Given the description of an element on the screen output the (x, y) to click on. 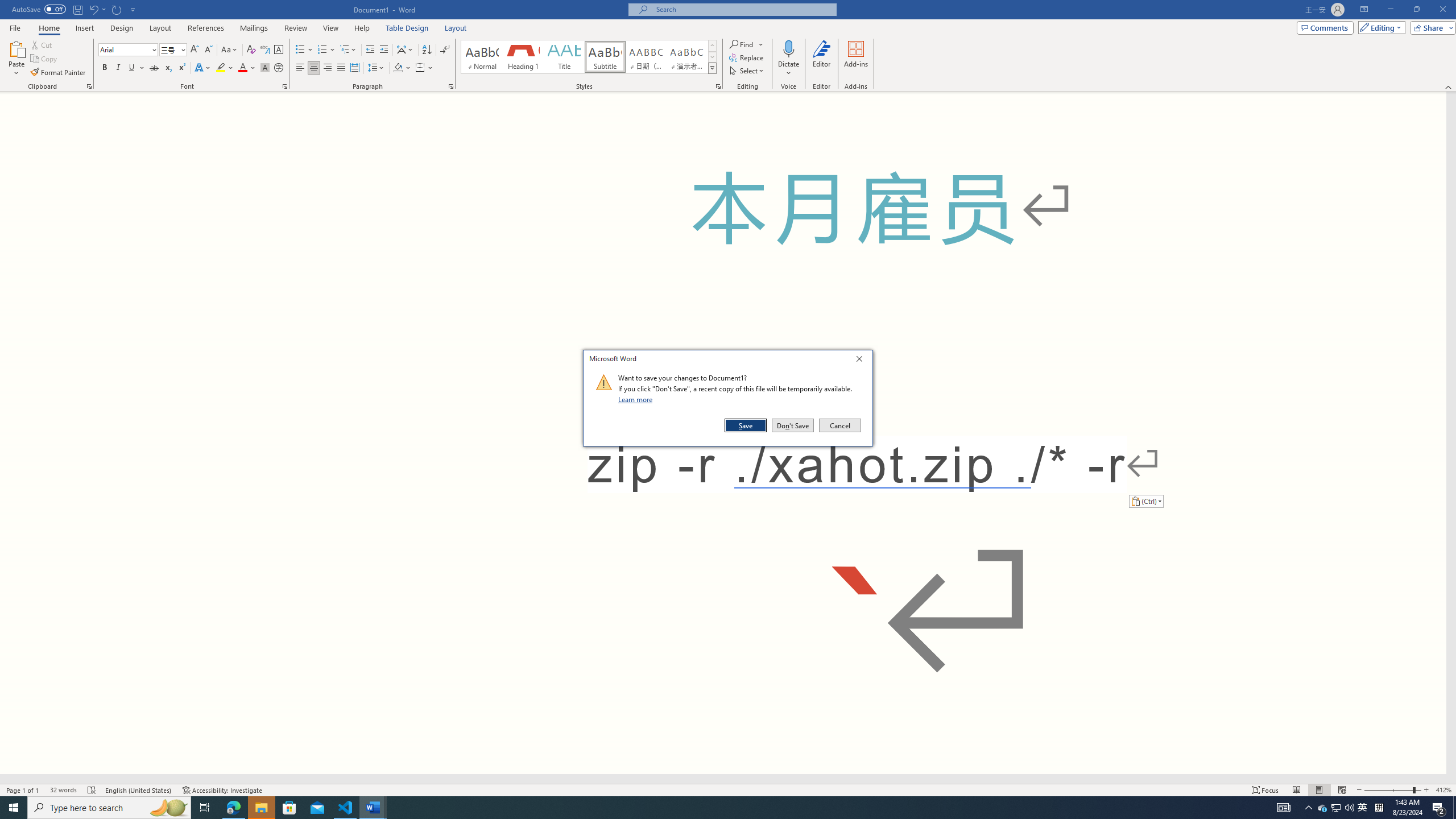
Class: MsoCommandBar (728, 45)
Repeat Doc Close (117, 9)
Undo Paste (96, 9)
Text Highlight Color Yellow (220, 67)
Justify (340, 67)
Show/Hide Editing Marks (444, 49)
Zoom (1392, 790)
Cut (42, 44)
Spelling and Grammar Check Errors (91, 790)
Subscript (167, 67)
